Given the description of an element on the screen output the (x, y) to click on. 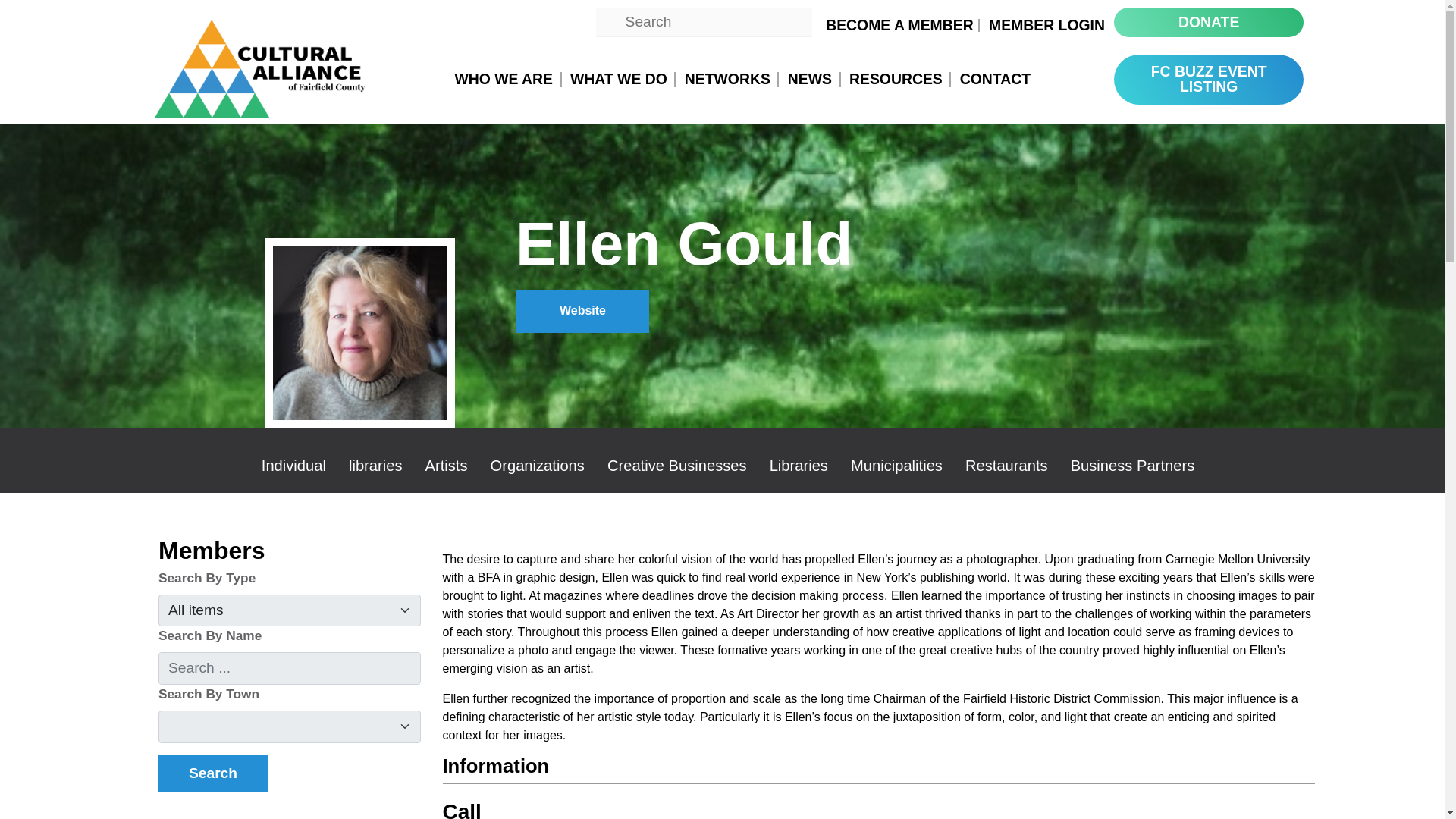
WHAT WE DO (619, 78)
DONATE (1208, 21)
MEMBER LOGIN (1046, 25)
NETWORKS (726, 78)
BECOME A MEMBER (898, 25)
NEWS (809, 78)
Search (212, 773)
WHO WE ARE (503, 78)
RESOURCES (895, 78)
